Given the description of an element on the screen output the (x, y) to click on. 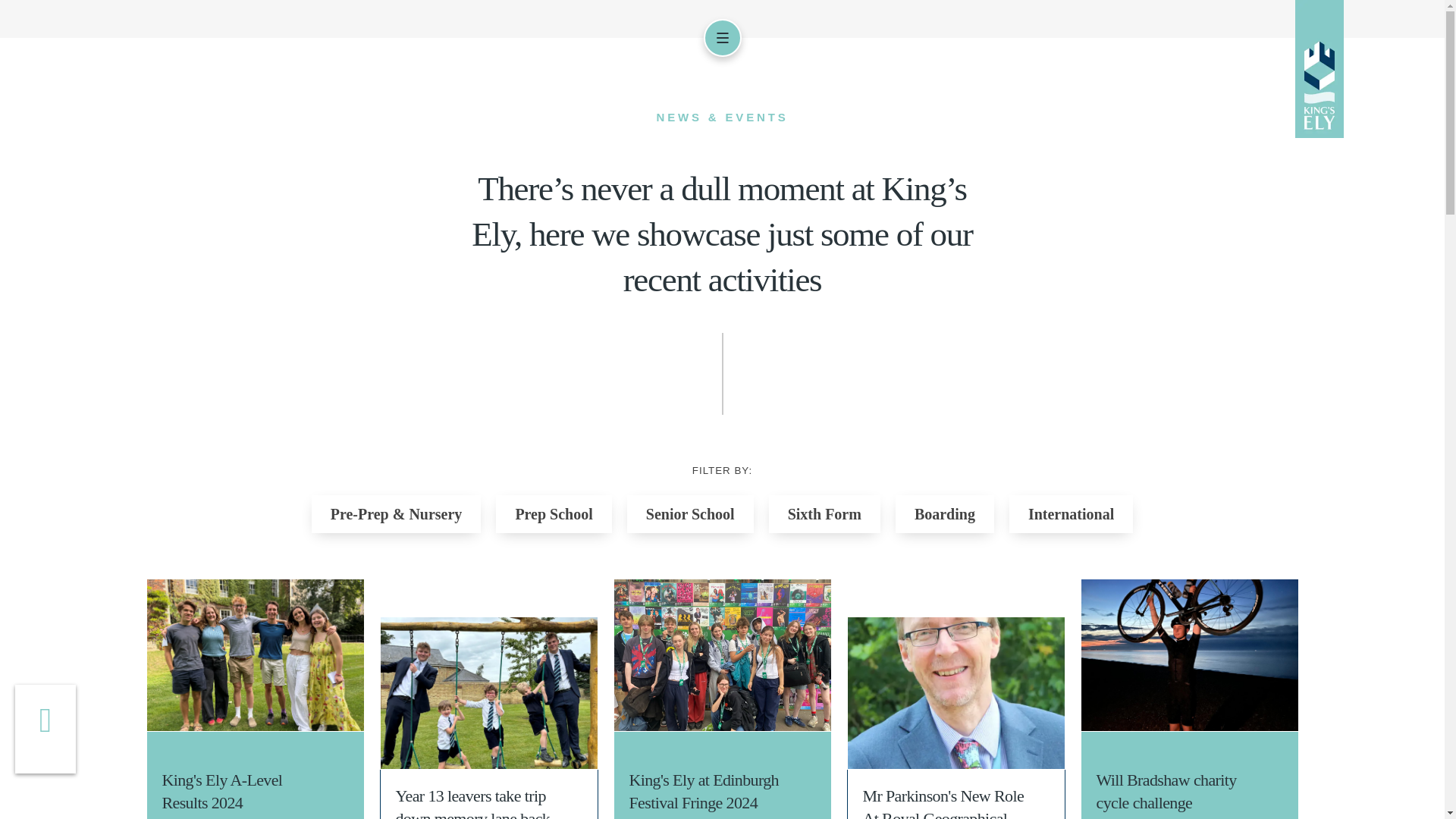
Will Bradshaw charity cycle challenge (1189, 655)
King's Ely A-Level Results 2024 (255, 655)
King's Ely at Edinburgh Festival Fringe 2024 (722, 655)
Menu (722, 37)
Mr Parkinson's New Role At Royal Geographical Society (955, 693)
